Given the description of an element on the screen output the (x, y) to click on. 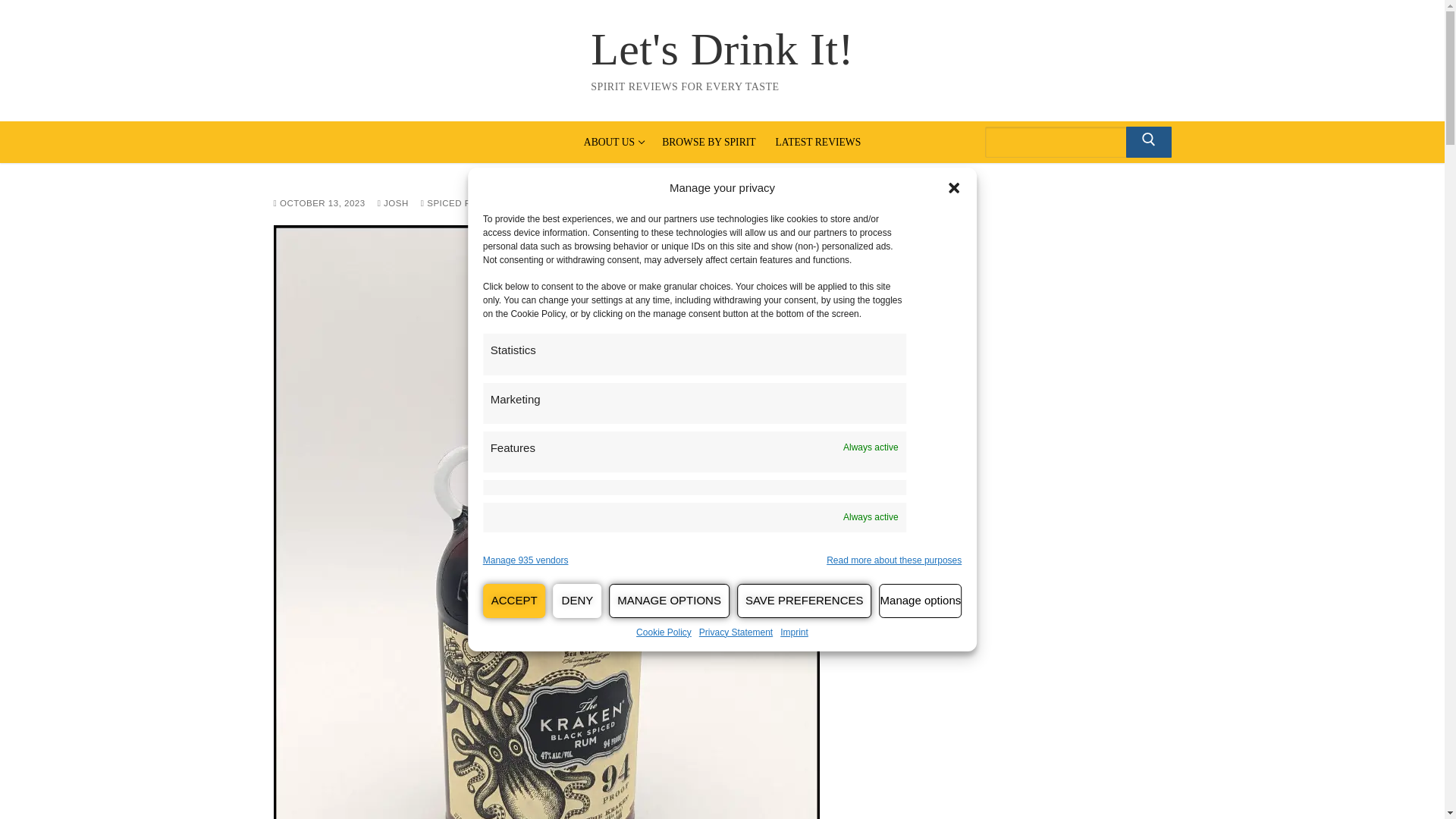
Manage options (612, 141)
Let'S Drink It! (920, 600)
ACCEPT (722, 49)
BROWSE BY SPIRIT (514, 600)
Manage 935 vendors (708, 141)
SAVE PREFERENCES (526, 560)
Privacy Statement (804, 600)
Search for: (735, 632)
DENY (1070, 141)
Read more about these purposes (577, 600)
LATEST REVIEWS (893, 560)
Imprint (817, 141)
MANAGE OPTIONS (794, 632)
Cookie Policy (668, 600)
